Given the description of an element on the screen output the (x, y) to click on. 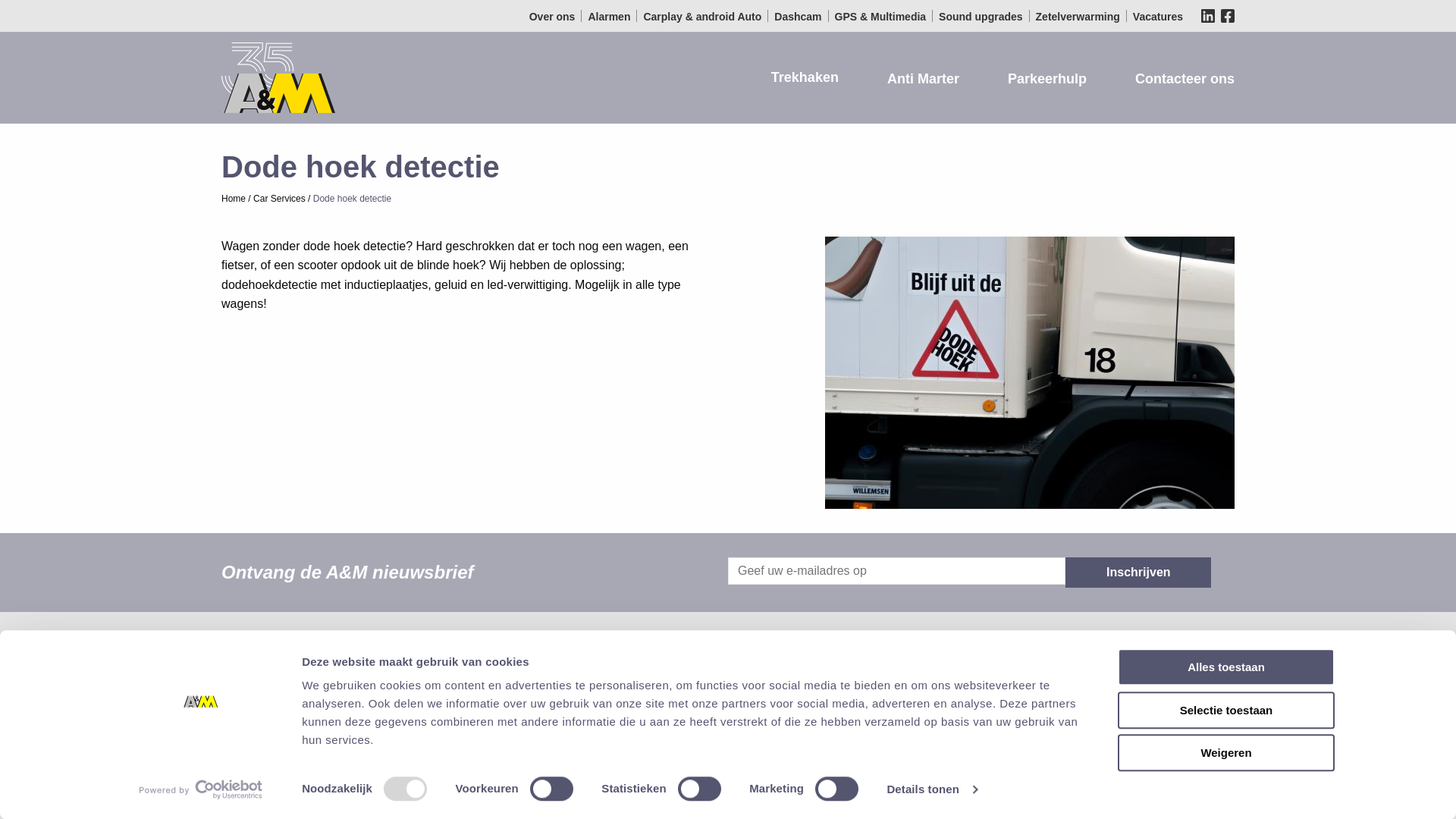
Dashcam Element type: text (797, 16)
Home Element type: text (233, 197)
Overslaan en naar de inhoud gaan Element type: text (0, 0)
Zetelverwarming Element type: text (1077, 16)
Weigeren Element type: text (1225, 752)
Contacteer ons Element type: text (1172, 79)
Facebook Element type: text (604, 705)
Carplay & android Auto Element type: text (702, 16)
Facebook Element type: text (1227, 15)
Home Element type: hover (278, 676)
LinkedIn Element type: text (585, 705)
info@anm.be Element type: text (819, 761)
Selectie toestaan Element type: text (1225, 709)
Alarmen Element type: text (608, 16)
LinkedIn Element type: text (1207, 15)
Disclaimer Element type: text (743, 761)
Inschrijven Element type: text (1138, 572)
Alles toestaan Element type: text (1225, 666)
Anti Marter Element type: text (910, 79)
Over ons Element type: text (552, 16)
GPS & Multimedia Element type: text (880, 16)
Car Services Element type: text (279, 197)
TBD Agency Element type: text (971, 761)
Trekhaken Element type: text (792, 77)
Home Element type: hover (278, 75)
Details tonen Element type: text (931, 789)
Sound upgrades Element type: text (980, 16)
carservices@anm.be Element type: text (999, 652)
Parkeerhulp Element type: text (1034, 79)
Vacatures Element type: text (1157, 16)
